Given the description of an element on the screen output the (x, y) to click on. 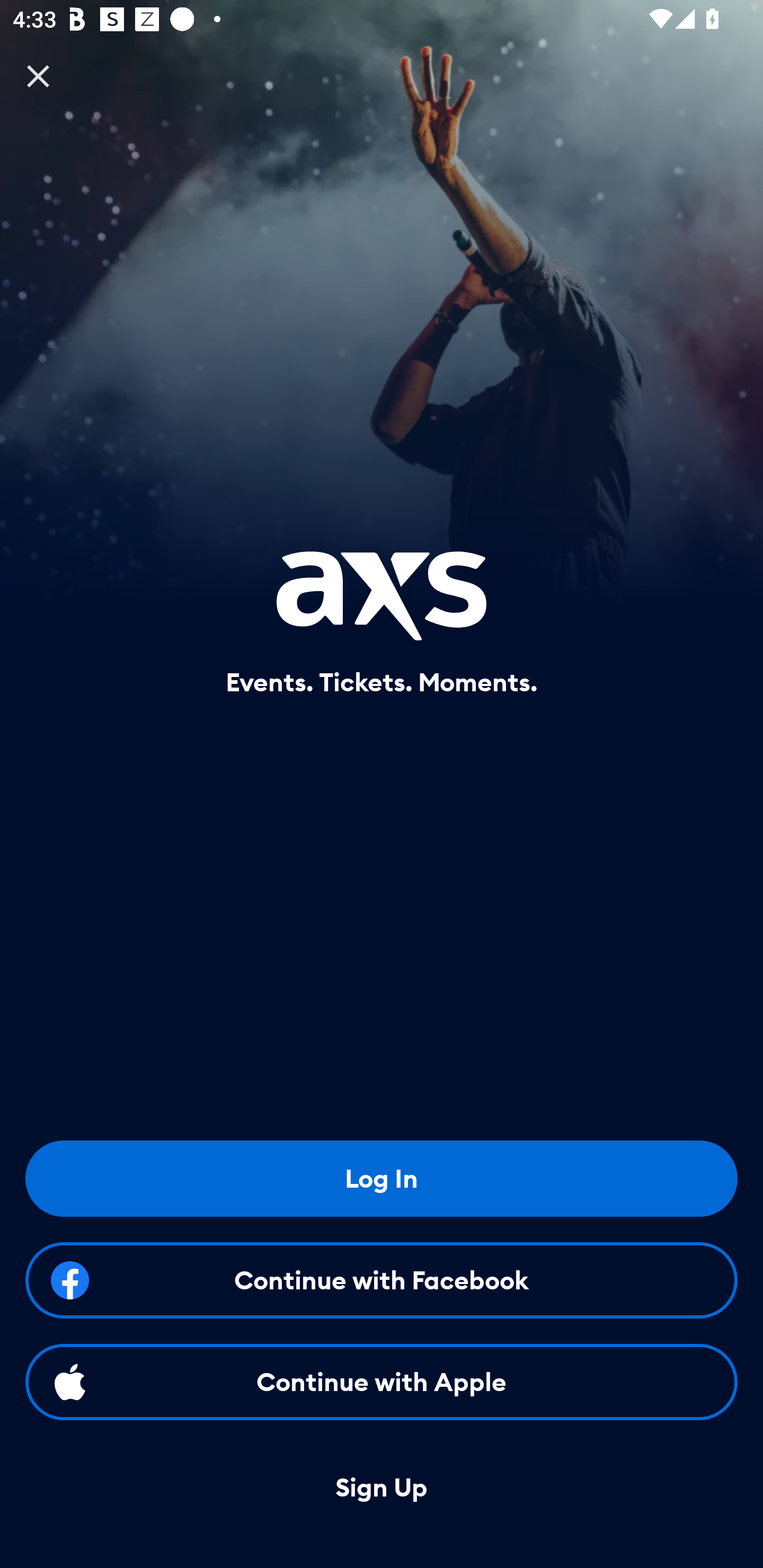
Log In (381, 1177)
Continue with Facebook (381, 1279)
Continue with Apple (381, 1381)
Sign Up (381, 1487)
